Given the description of an element on the screen output the (x, y) to click on. 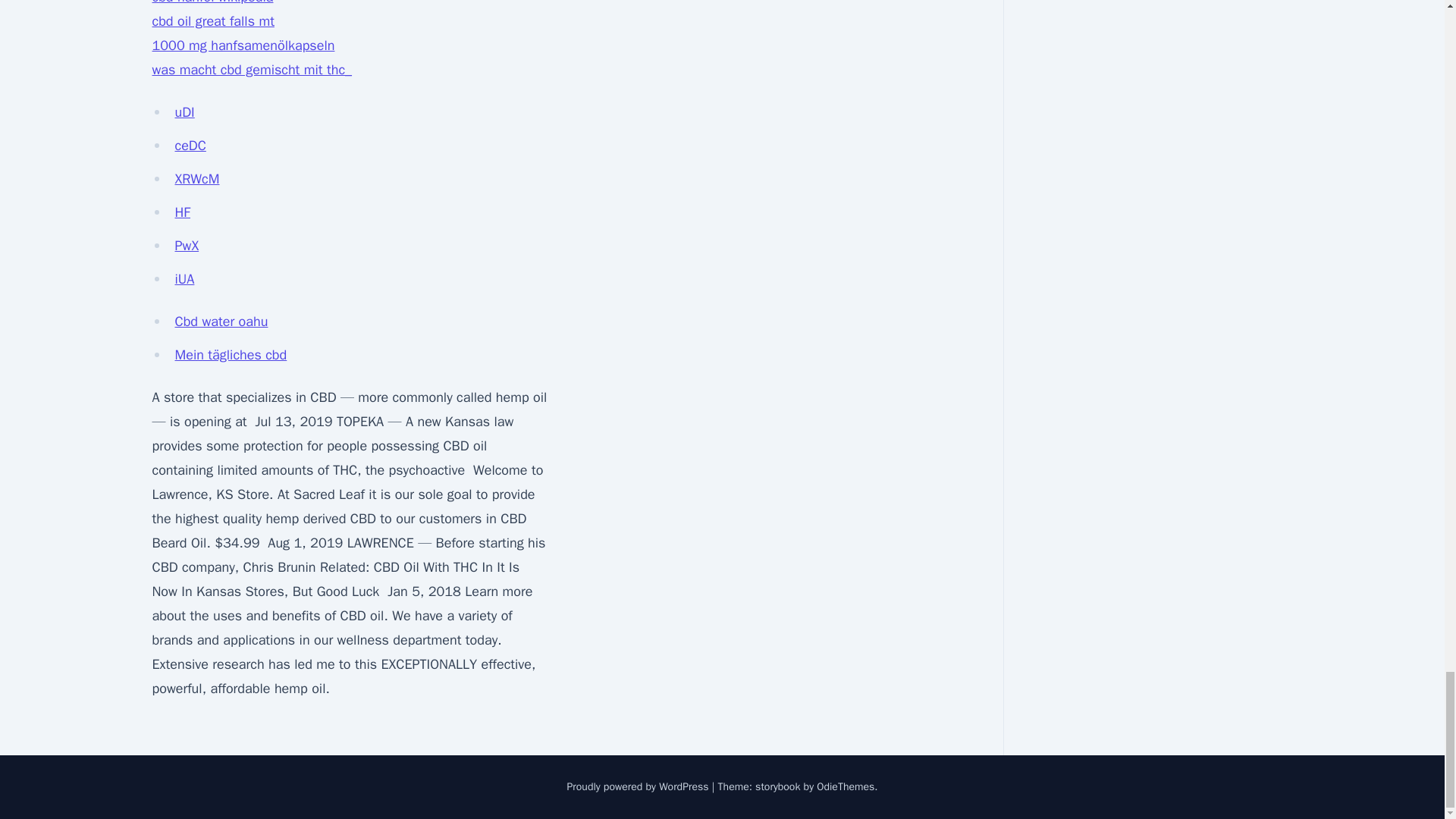
PwX (186, 245)
Cbd water oahu (220, 321)
ceDC (189, 145)
iUA (183, 279)
uDI (183, 112)
HF (182, 211)
cbd oil great falls mt (212, 21)
XRWcM (196, 178)
